Given the description of an element on the screen output the (x, y) to click on. 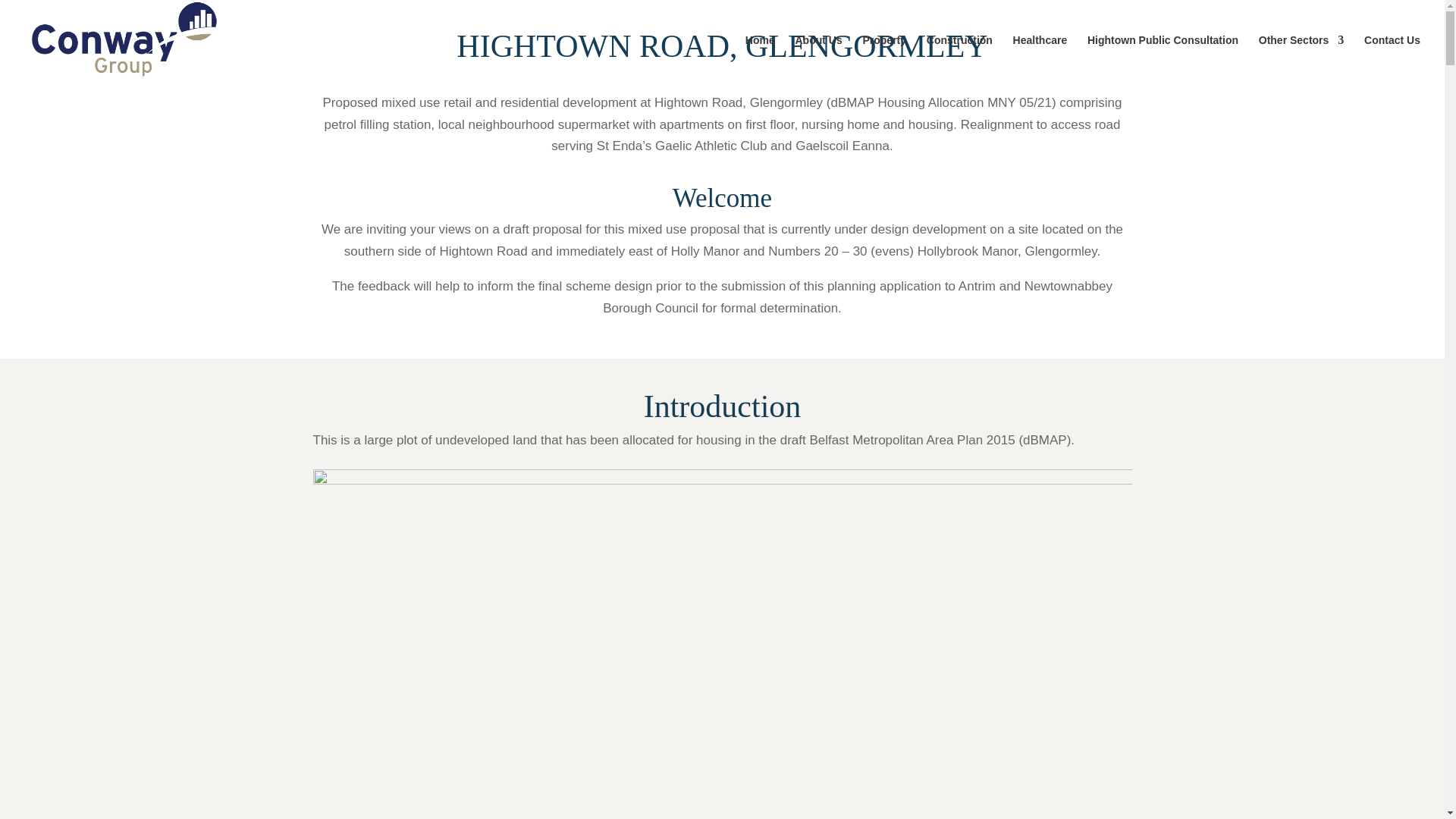
Property (883, 57)
Other Sectors (1301, 57)
Contact Us (1392, 57)
About Us (817, 57)
Construction (959, 57)
Healthcare (1040, 57)
Hightown Public Consultation (1163, 57)
